Given the description of an element on the screen output the (x, y) to click on. 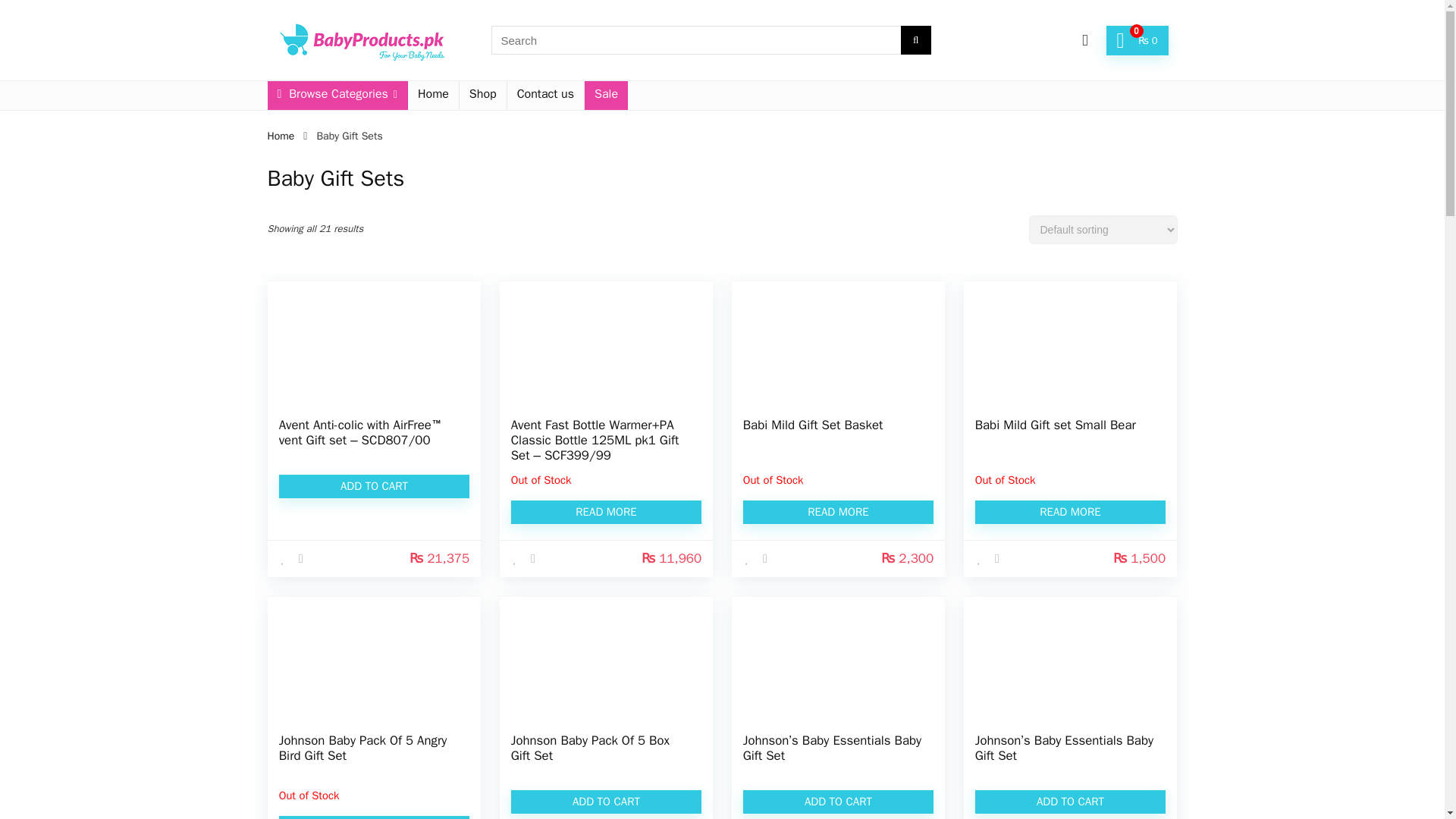
Browse Categories (336, 95)
